Given the description of an element on the screen output the (x, y) to click on. 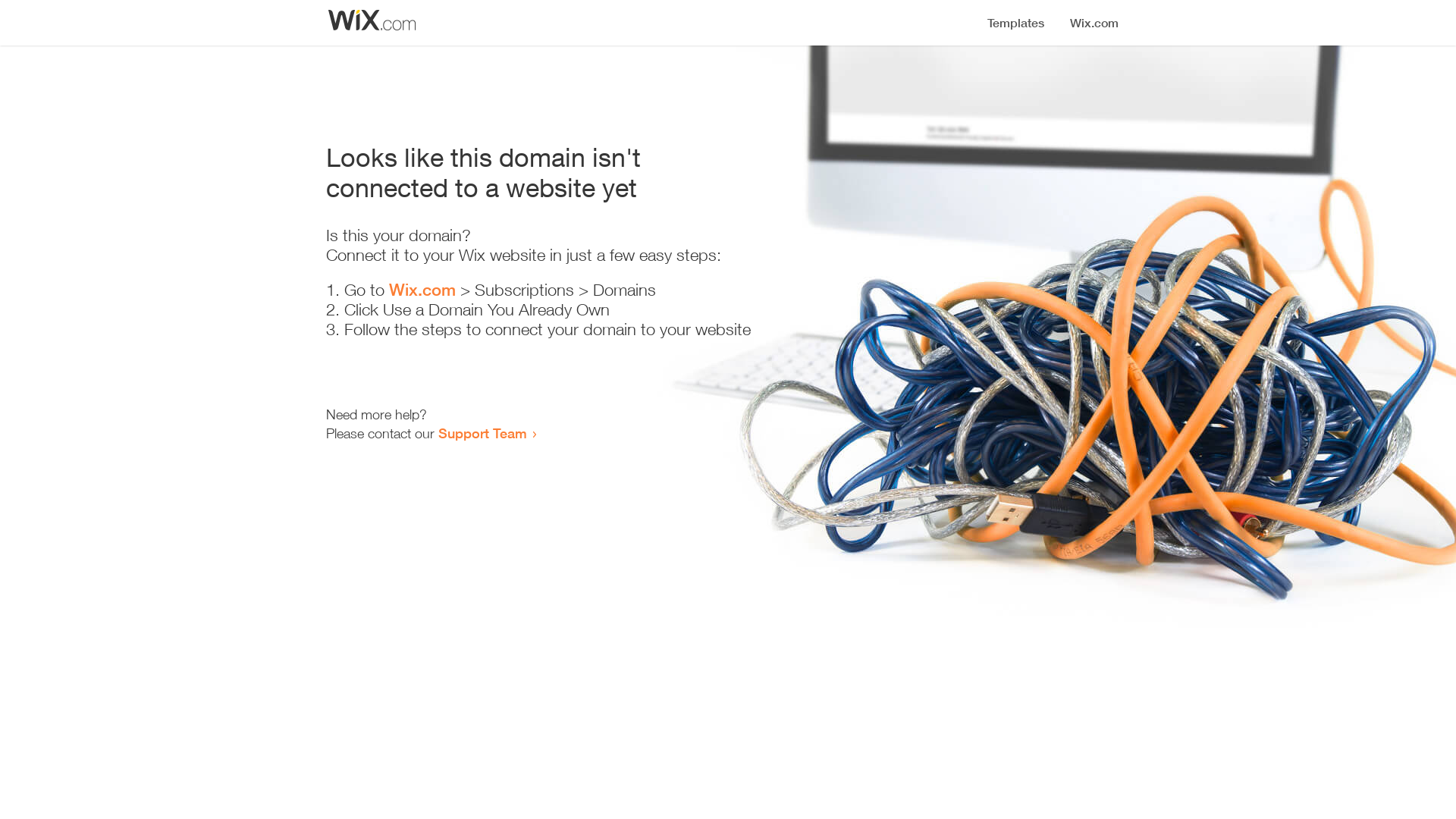
Support Team Element type: text (482, 432)
Wix.com Element type: text (422, 289)
